Given the description of an element on the screen output the (x, y) to click on. 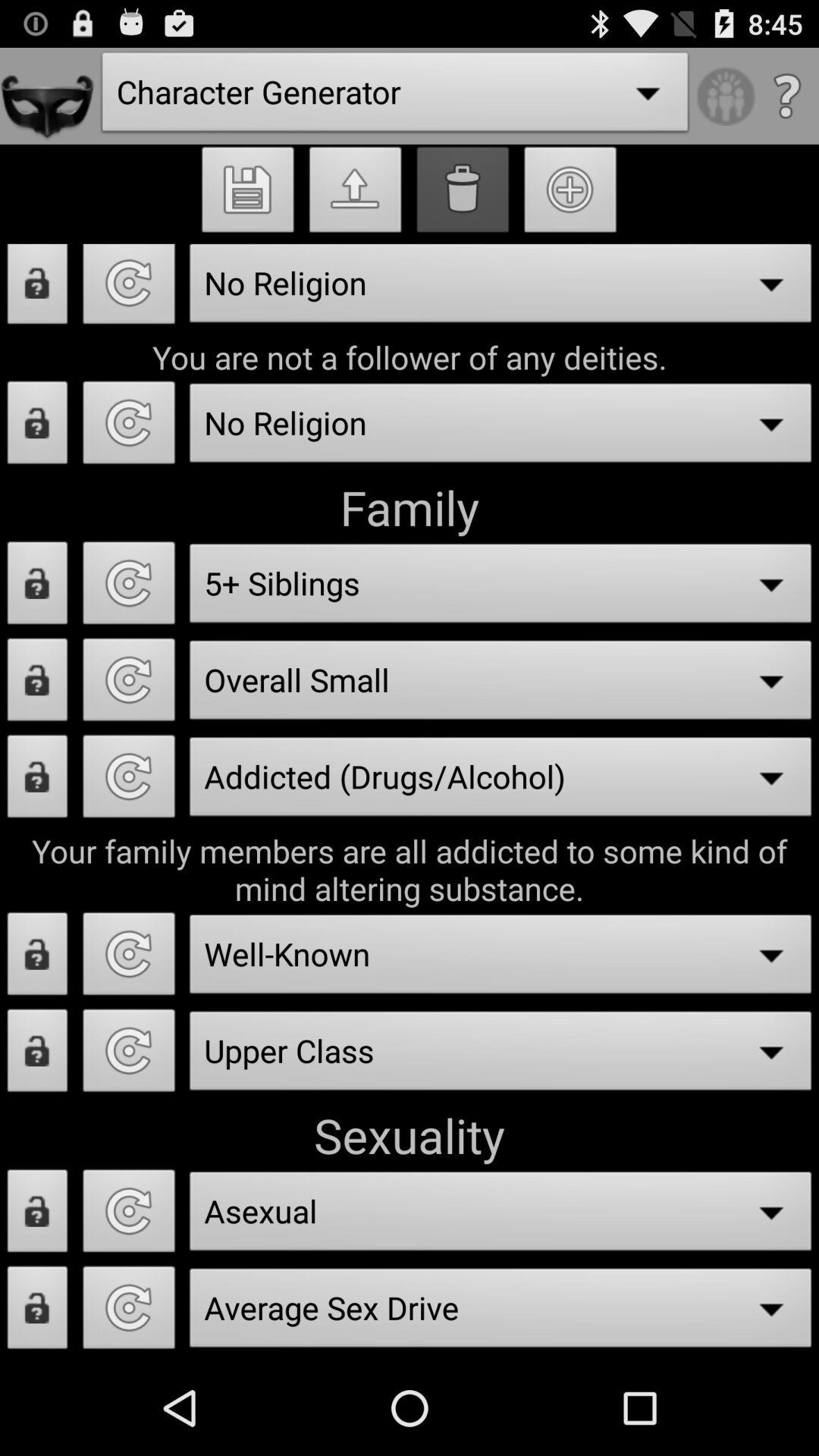
refresh (129, 780)
